Given the description of an element on the screen output the (x, y) to click on. 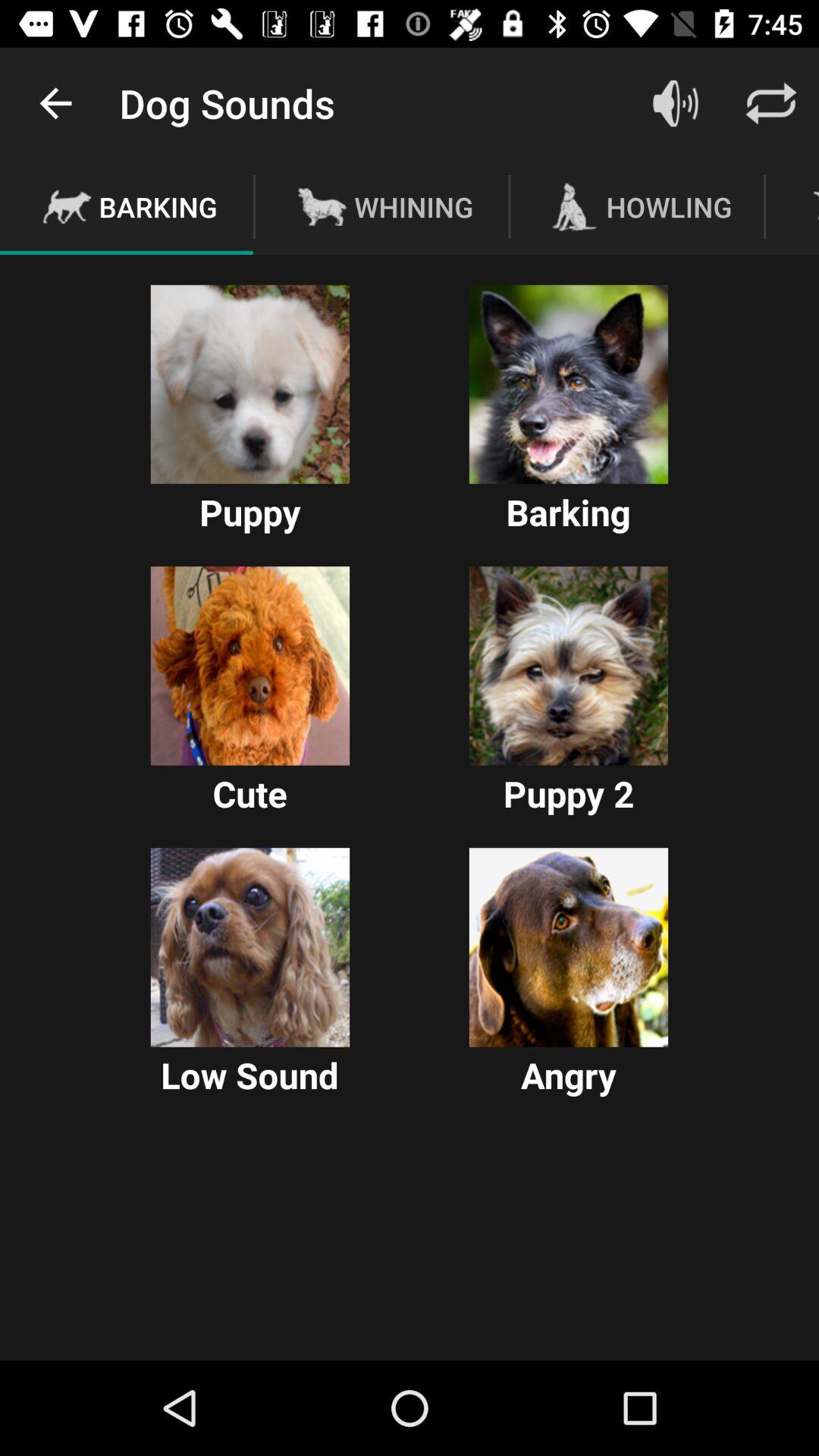
toggle sound repeat (771, 103)
